Given the description of an element on the screen output the (x, y) to click on. 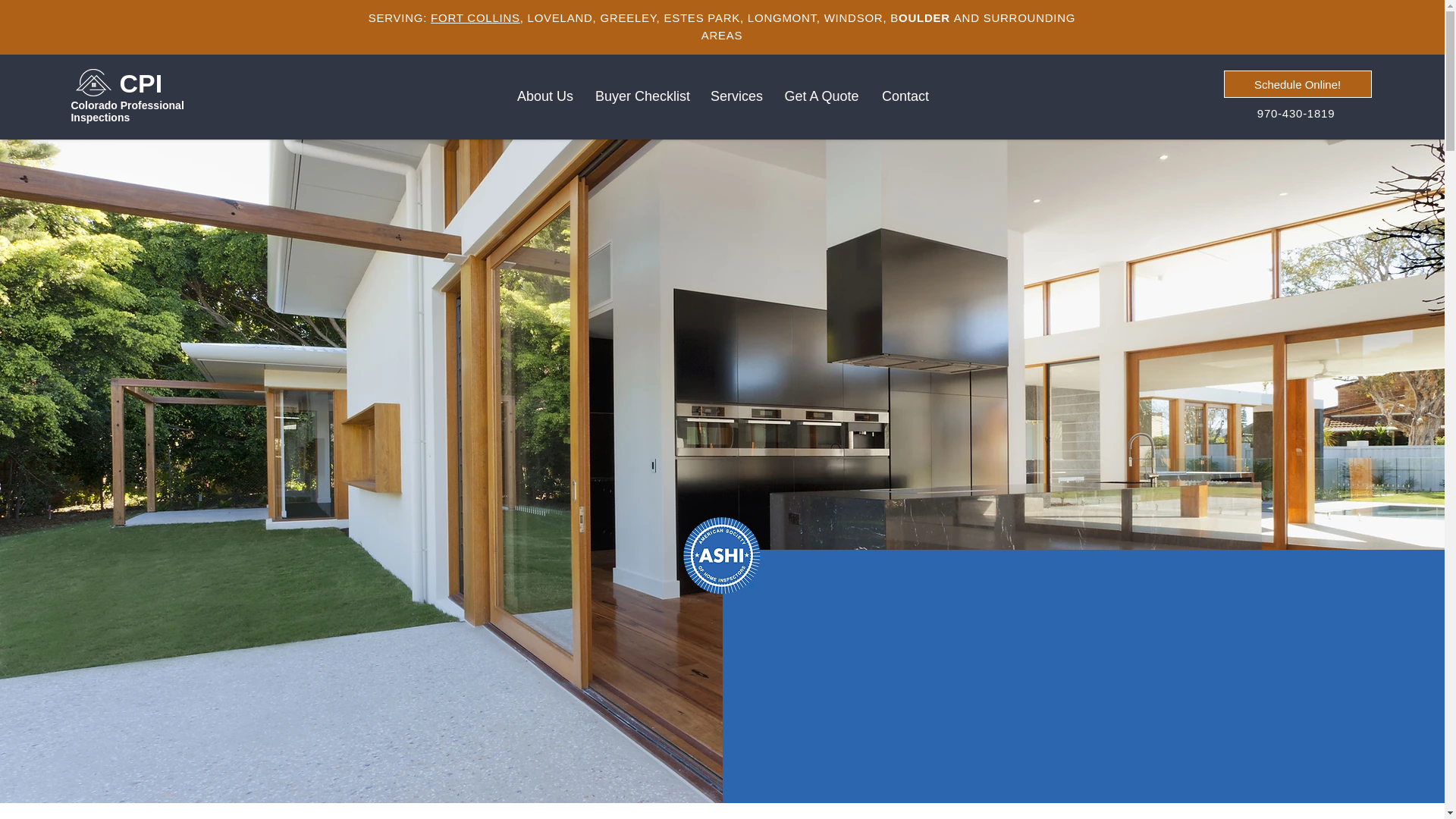
FORT COLLINS (474, 17)
Schedule Online! (1297, 83)
970-430-1819 (1297, 112)
Buyer Checklist (640, 95)
About Us (544, 95)
CPI (140, 82)
Contact (904, 95)
Get A Quote (821, 95)
